Given the description of an element on the screen output the (x, y) to click on. 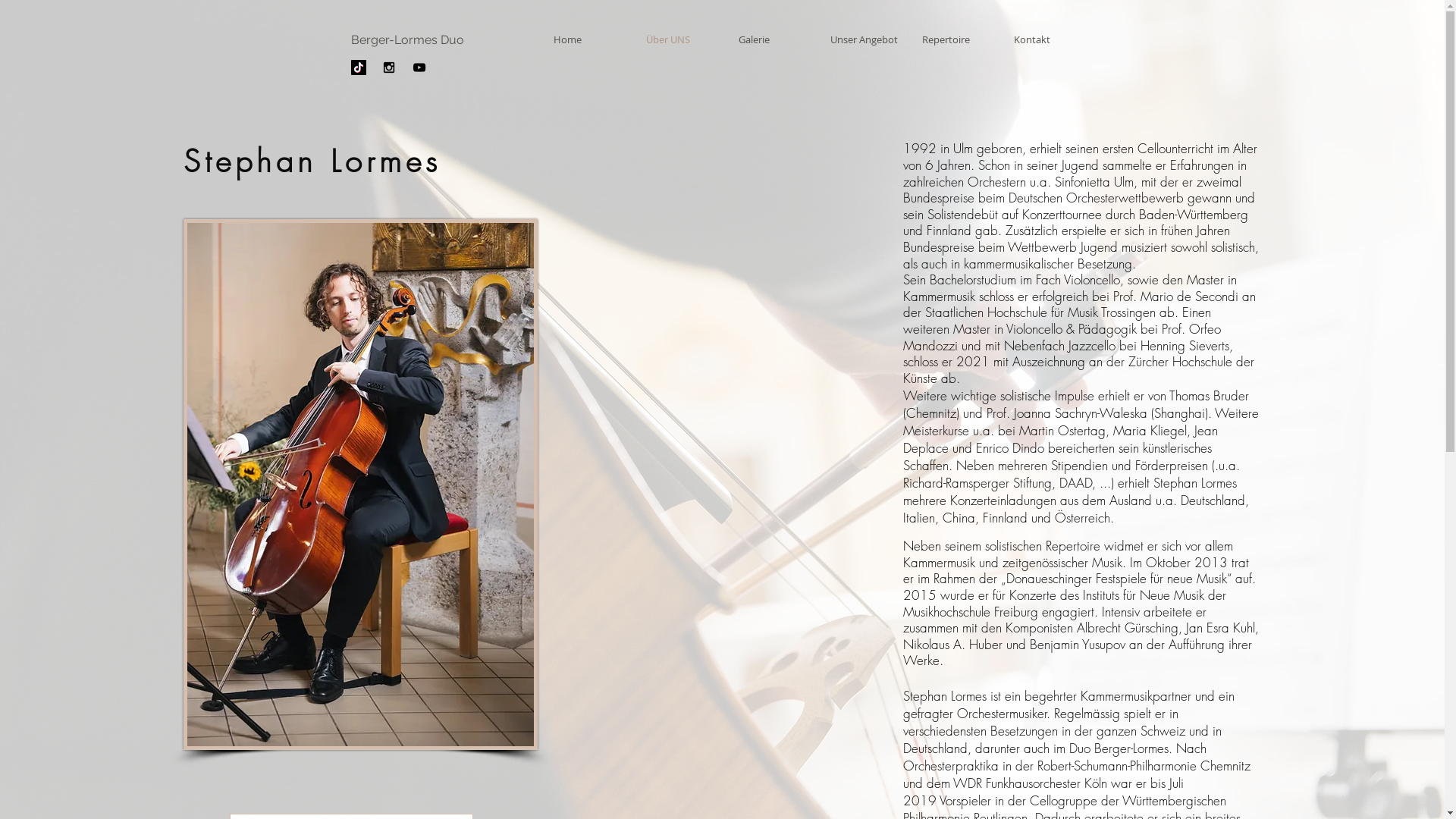
Repertoire Element type: text (955, 39)
Home Element type: text (587, 39)
Kontakt Element type: text (1048, 39)
Galerie Element type: text (772, 39)
Berger-Lormes Duo Element type: text (406, 39)
Unser Angebot Element type: text (864, 39)
